Given the description of an element on the screen output the (x, y) to click on. 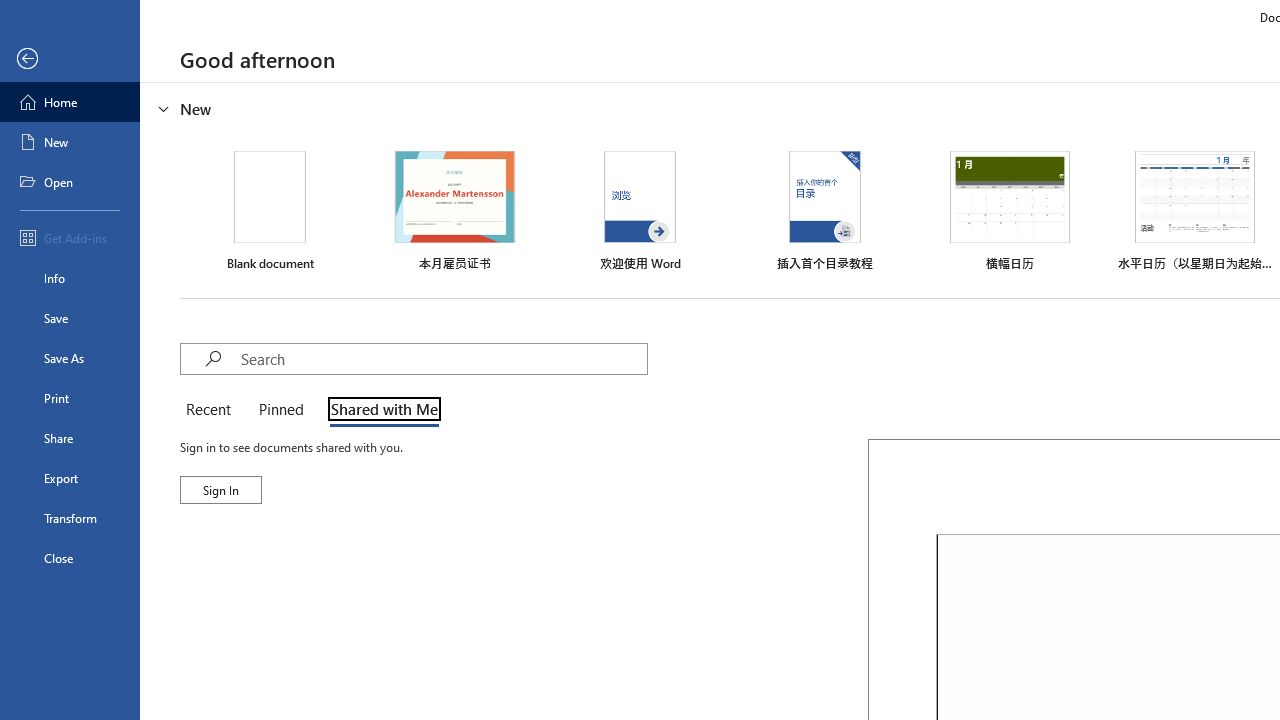
Recent (212, 410)
Export (69, 477)
Get Add-ins (69, 237)
New (69, 141)
Info (69, 277)
Pinned (280, 410)
Open (69, 182)
Shared with Me (379, 410)
